Given the description of an element on the screen output the (x, y) to click on. 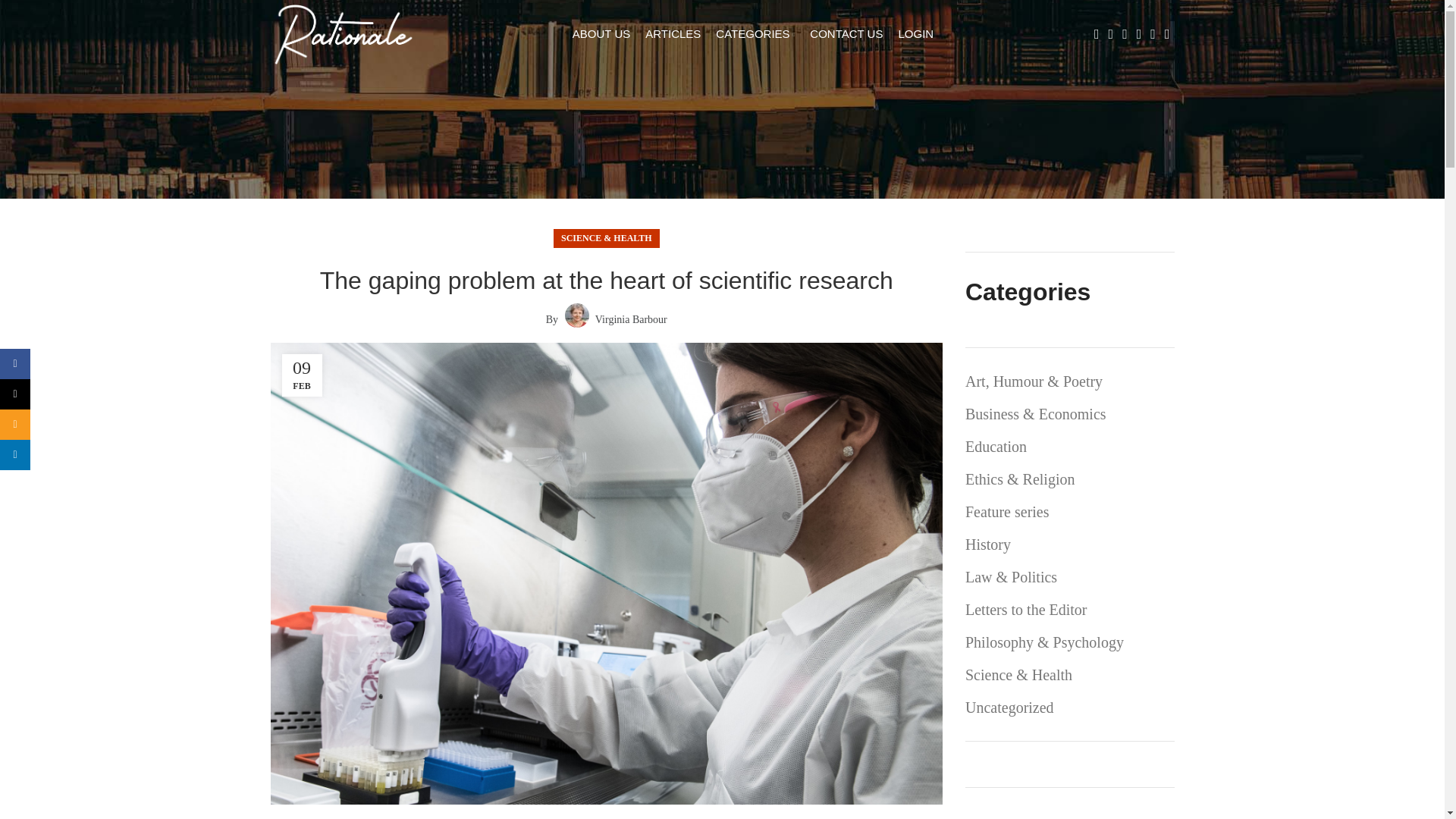
Virginia Barbour (630, 319)
CATEGORIES (755, 33)
CONTACT US (845, 33)
ARTICLES (672, 33)
ABOUT US (601, 33)
LOGIN (915, 33)
